Given the description of an element on the screen output the (x, y) to click on. 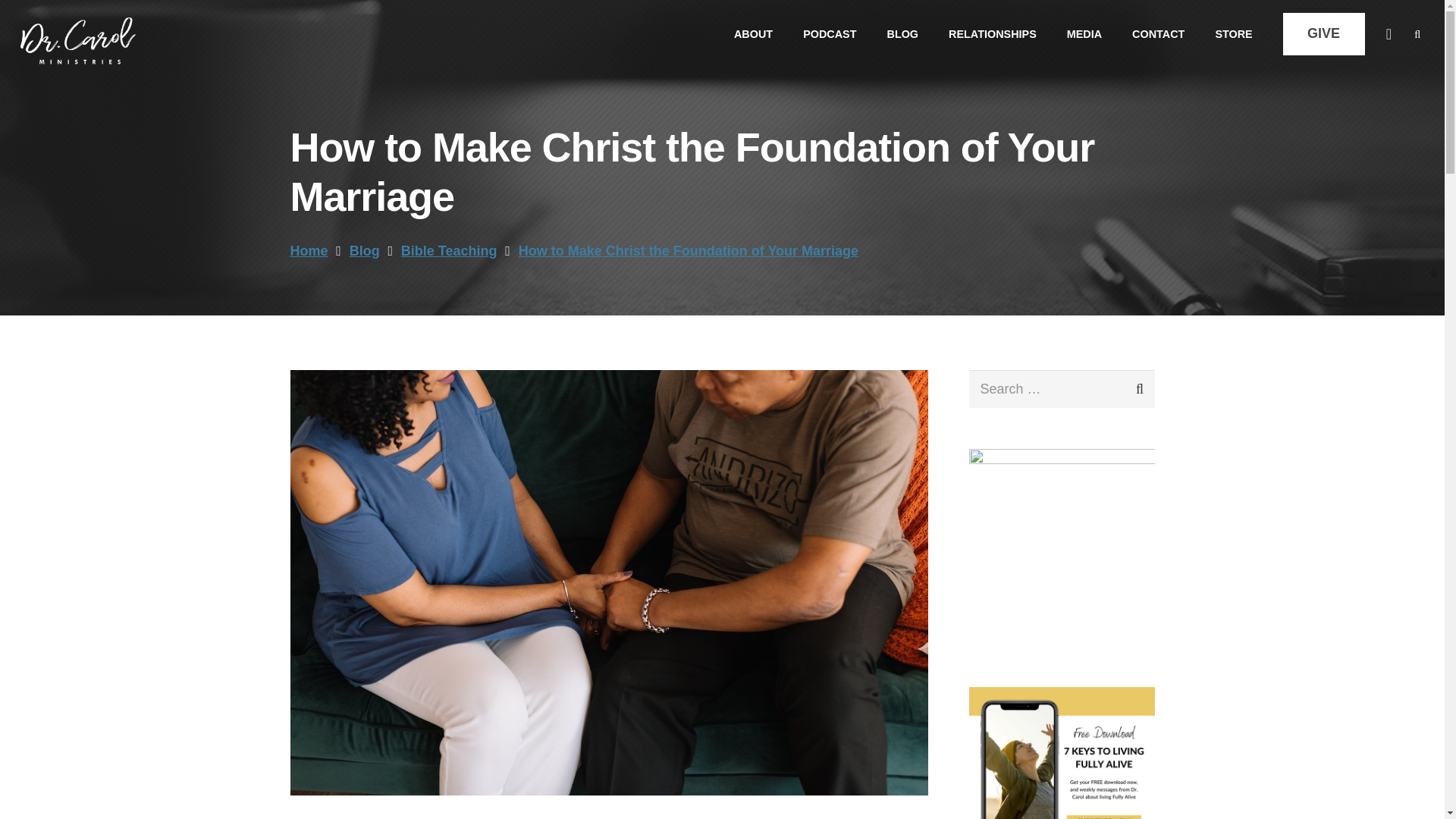
STORE (1232, 33)
How to Make Christ the Foundation of Your Marriage (688, 250)
PODCAST (828, 33)
ABOUT (753, 33)
Search (1128, 388)
RELATIONSHIPS (992, 33)
GIVE (1323, 34)
Home (308, 250)
CONTACT (1157, 33)
BLOG (901, 33)
